Given the description of an element on the screen output the (x, y) to click on. 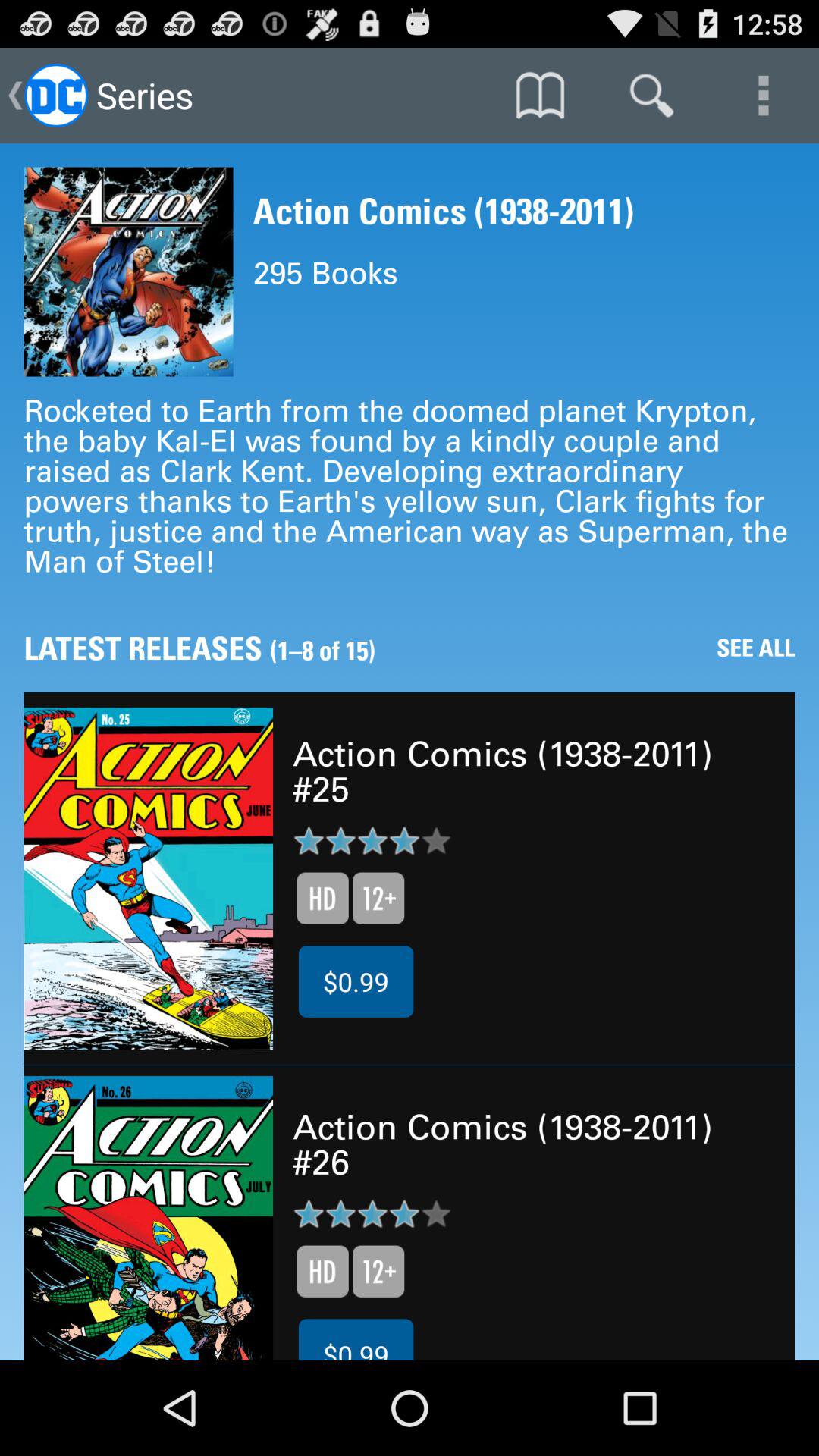
click the button on left to the search button on the web page (540, 95)
select the icon which is left side of the series at top left side of the page (55, 95)
click the three dots button on the top right corner of the web page (763, 95)
